Given the description of an element on the screen output the (x, y) to click on. 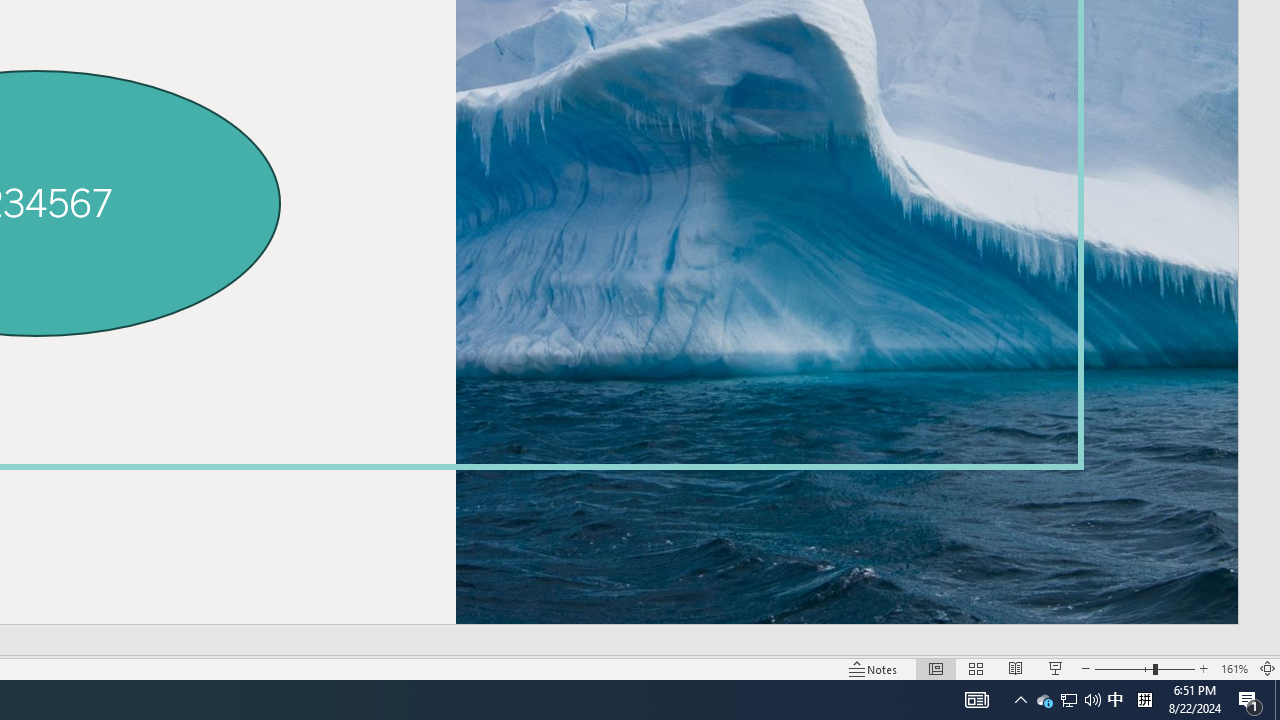
Zoom 161% (1234, 668)
